Given the description of an element on the screen output the (x, y) to click on. 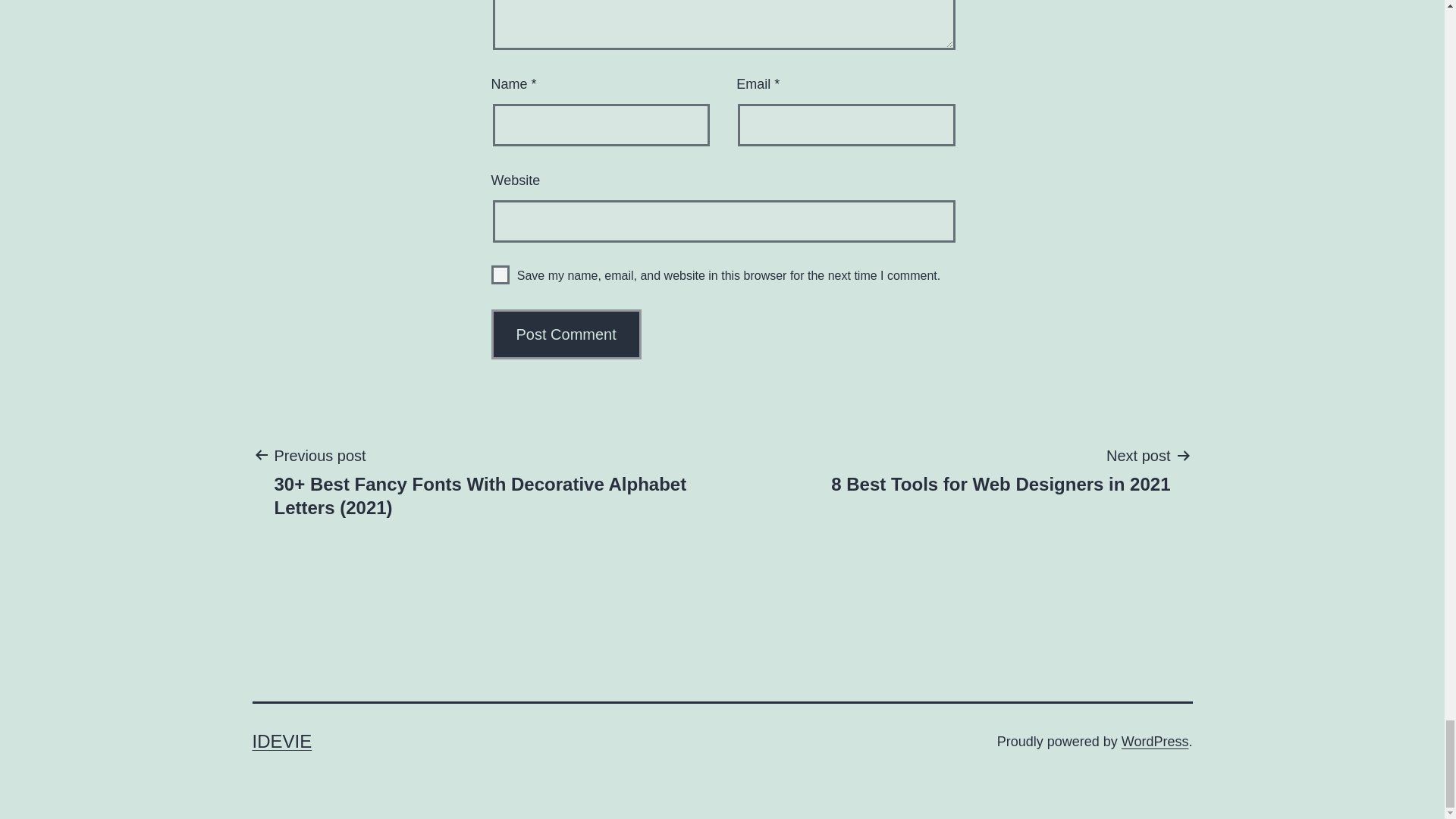
yes (500, 274)
Post Comment (567, 334)
